Given the description of an element on the screen output the (x, y) to click on. 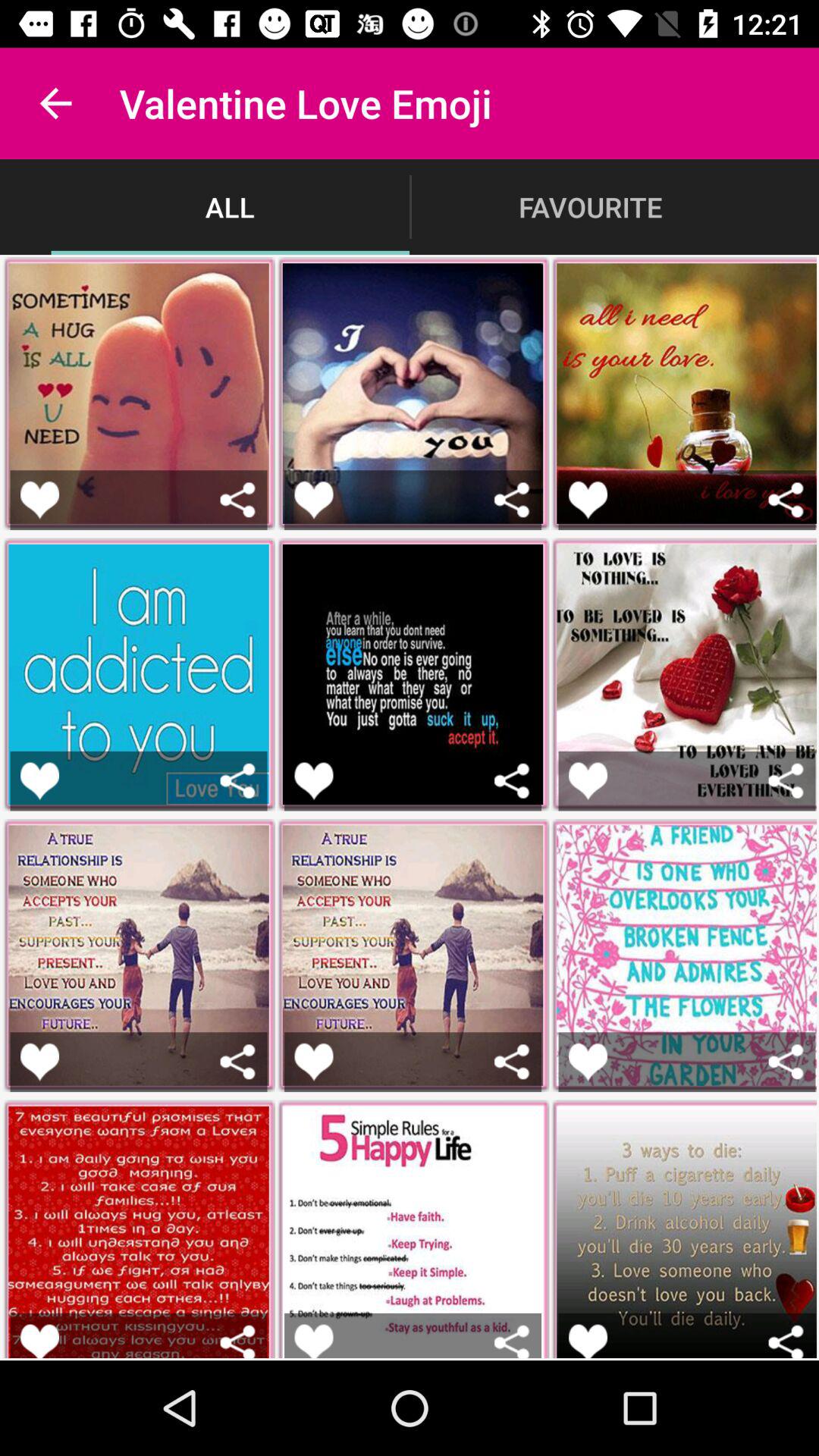
save this (587, 1340)
